Given the description of an element on the screen output the (x, y) to click on. 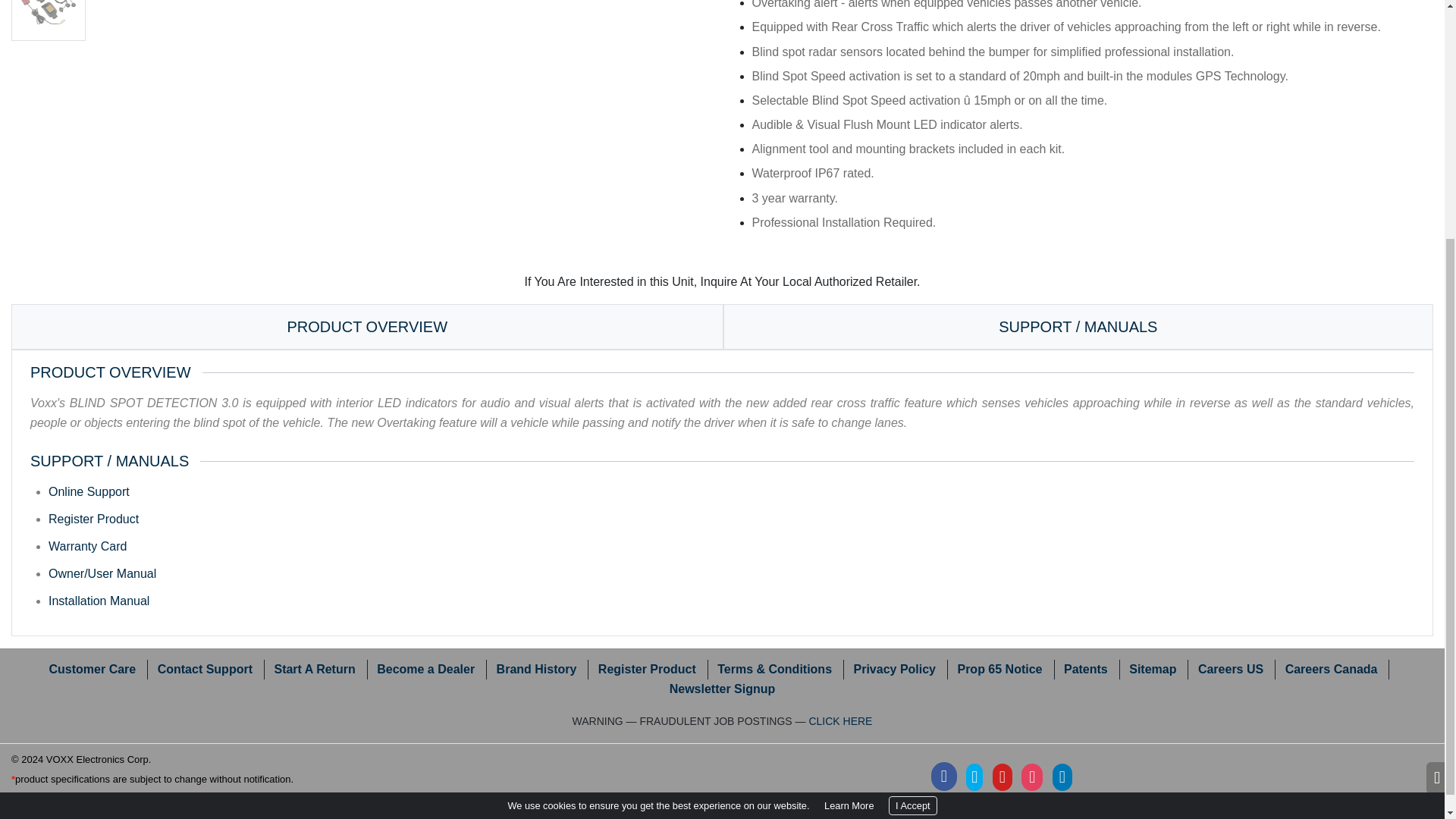
PRODUCT OVERVIEW (366, 326)
Contact Support (204, 668)
Warranty Card (87, 545)
Start A Return (314, 668)
Register Product (93, 518)
Online Support (88, 491)
Customer Care (92, 668)
Installation Manual (98, 600)
